Given the description of an element on the screen output the (x, y) to click on. 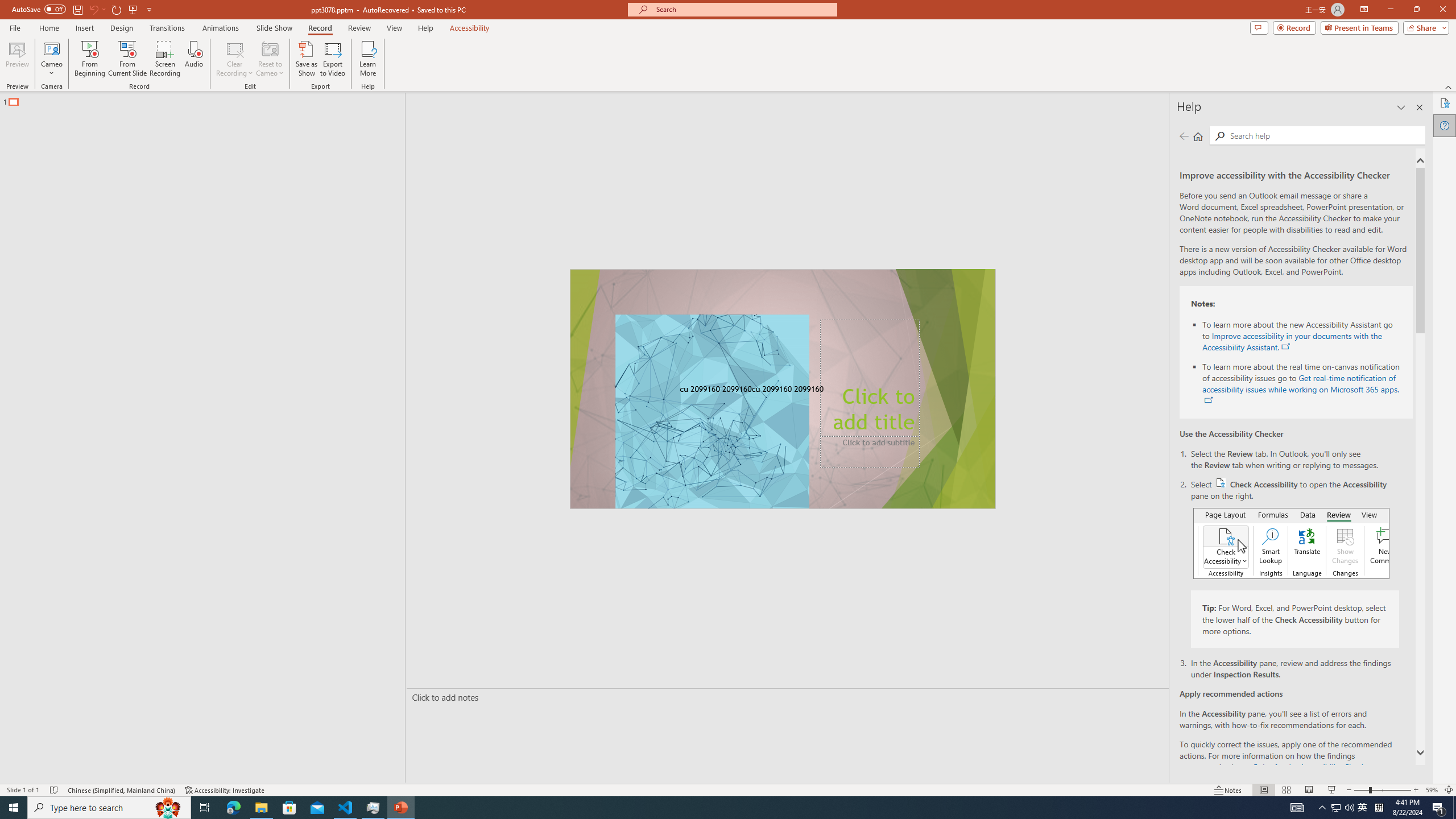
Rules for the Accessibility Checker (1310, 766)
Check accessibility button (1220, 482)
Screen Recording (165, 58)
Reset to Cameo (269, 58)
From Current Slide... (127, 58)
